Given the description of an element on the screen output the (x, y) to click on. 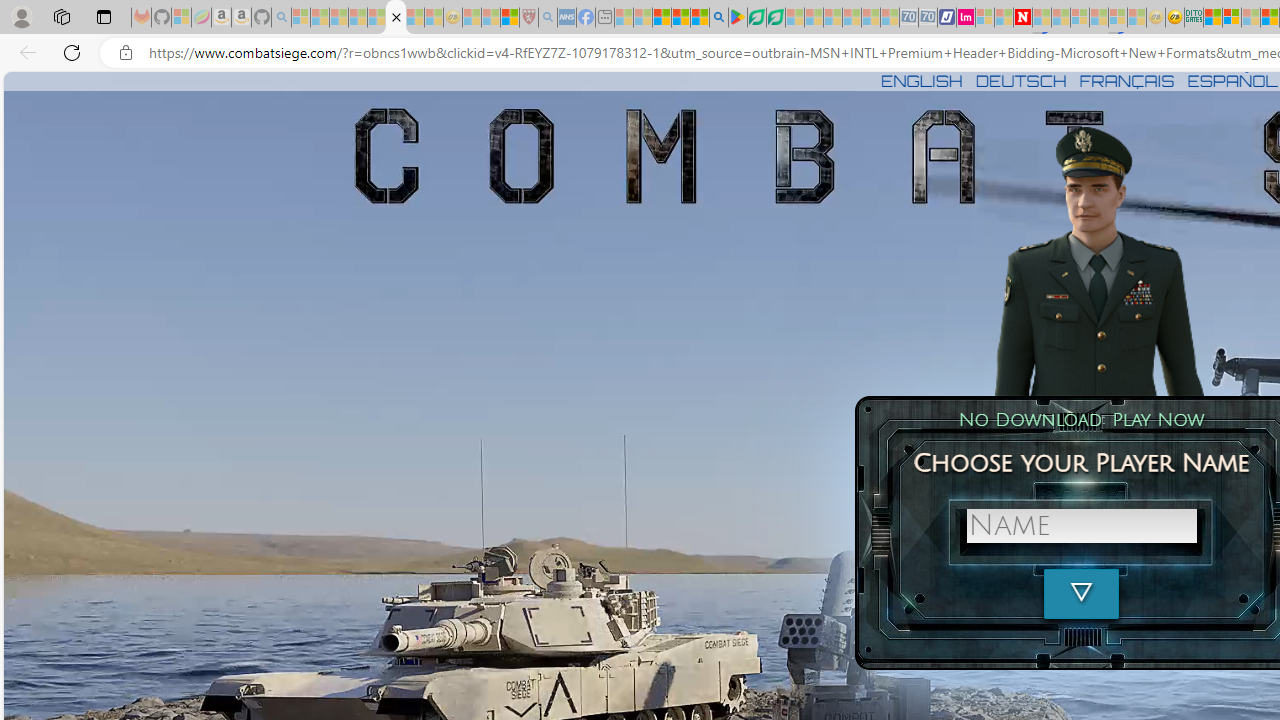
Pets - MSN (680, 17)
Combat Siege (395, 17)
Microsoft Word - consumer-privacy address update 2.2021 (775, 17)
DEUTSCH (1021, 80)
